Given the description of an element on the screen output the (x, y) to click on. 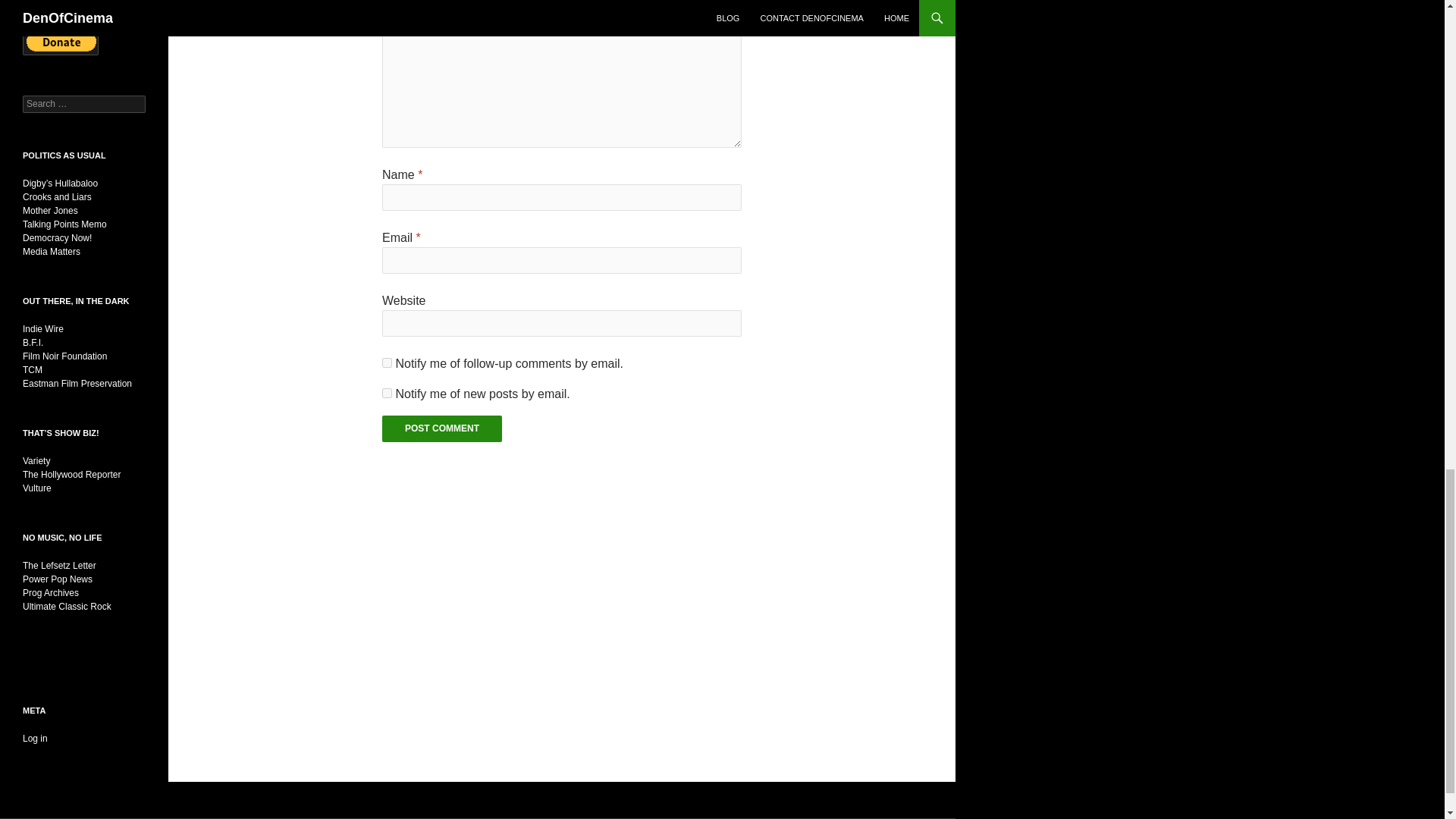
Post Comment (441, 428)
subscribe (386, 362)
Post Comment (441, 428)
subscribe (386, 393)
